Given the description of an element on the screen output the (x, y) to click on. 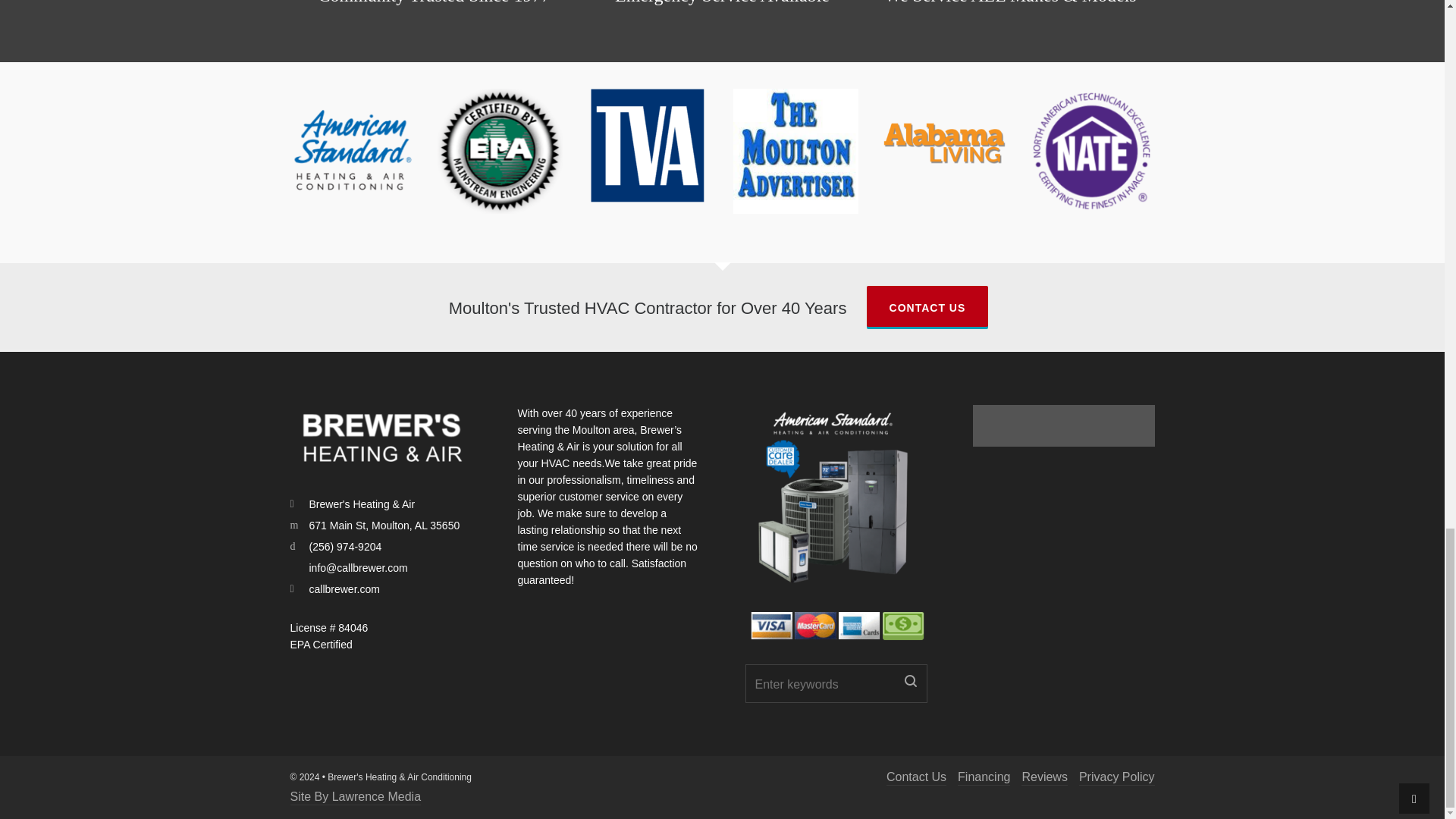
NATE Certified (1090, 150)
TVA Logo (647, 145)
EPA Certified (499, 150)
moulton advertiser logo (794, 150)
American Standard Square Logo (351, 150)
